Given the description of an element on the screen output the (x, y) to click on. 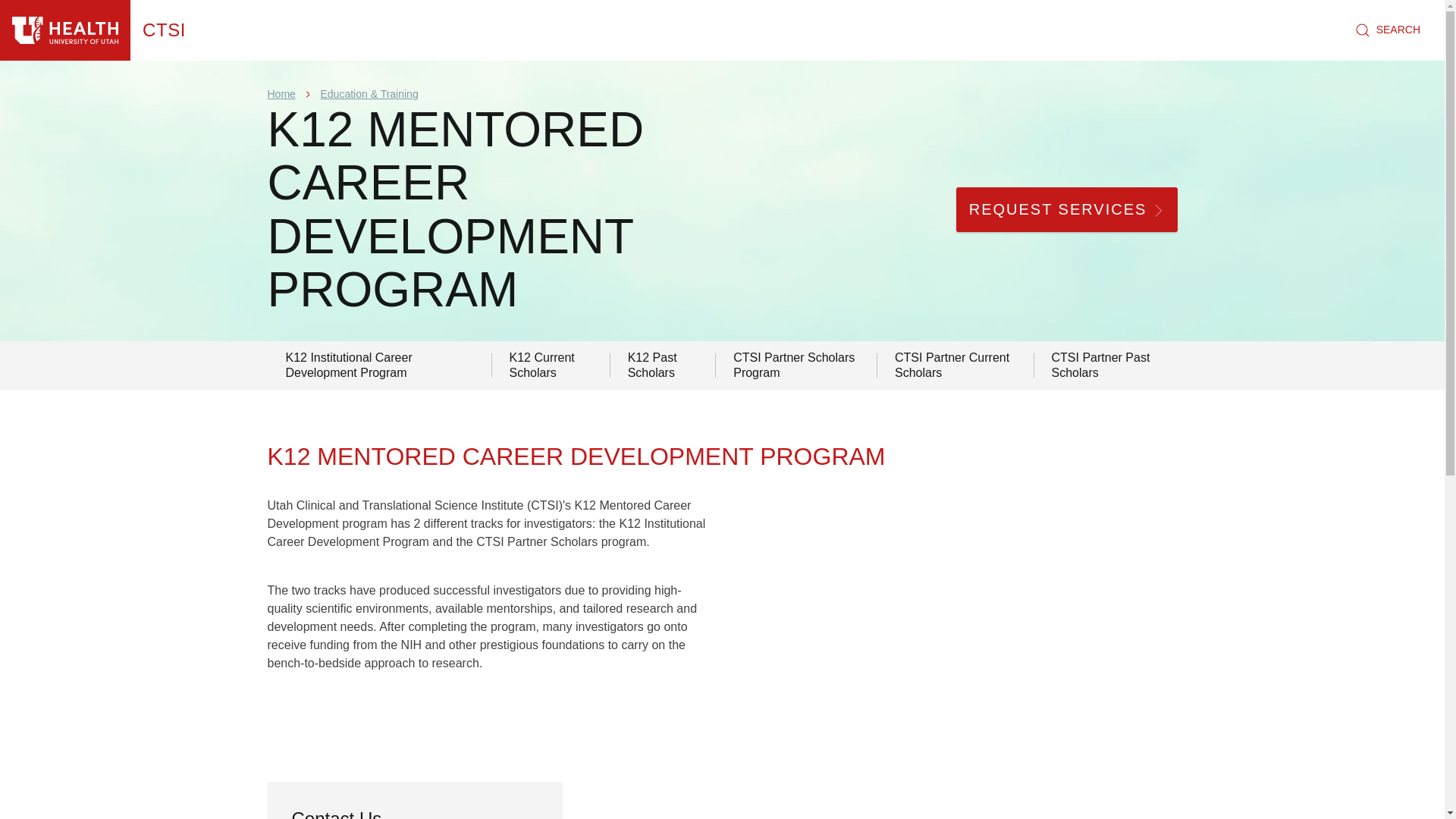
CTSI Partner Current Scholars (954, 365)
K12 Current Scholars (551, 365)
K12 Past Scholars (663, 365)
REQUEST SERVICES (1066, 209)
CTSI Partner Past Scholars (1105, 365)
K12 Institutional Career Development Program (378, 365)
CTSI Partner Scholars Program (795, 365)
CTSI (164, 30)
Home (280, 93)
Home (65, 30)
SEARCH (1387, 30)
Home (164, 30)
